Given the description of an element on the screen output the (x, y) to click on. 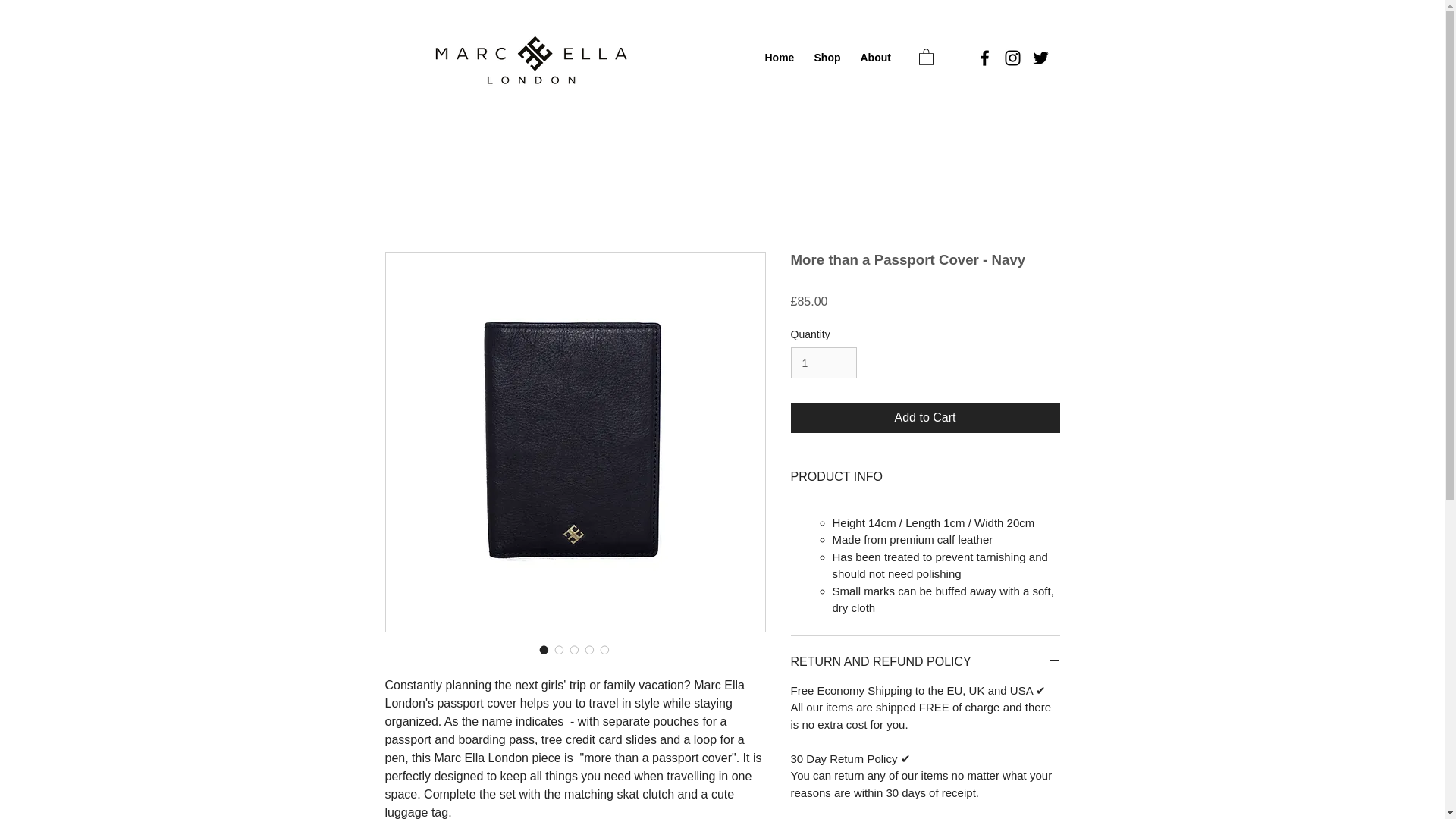
About (873, 56)
1 (823, 362)
Home (778, 56)
RETURN AND REFUND POLICY (924, 661)
Add to Cart (924, 417)
PRODUCT INFO (924, 476)
Shop (825, 56)
